Given the description of an element on the screen output the (x, y) to click on. 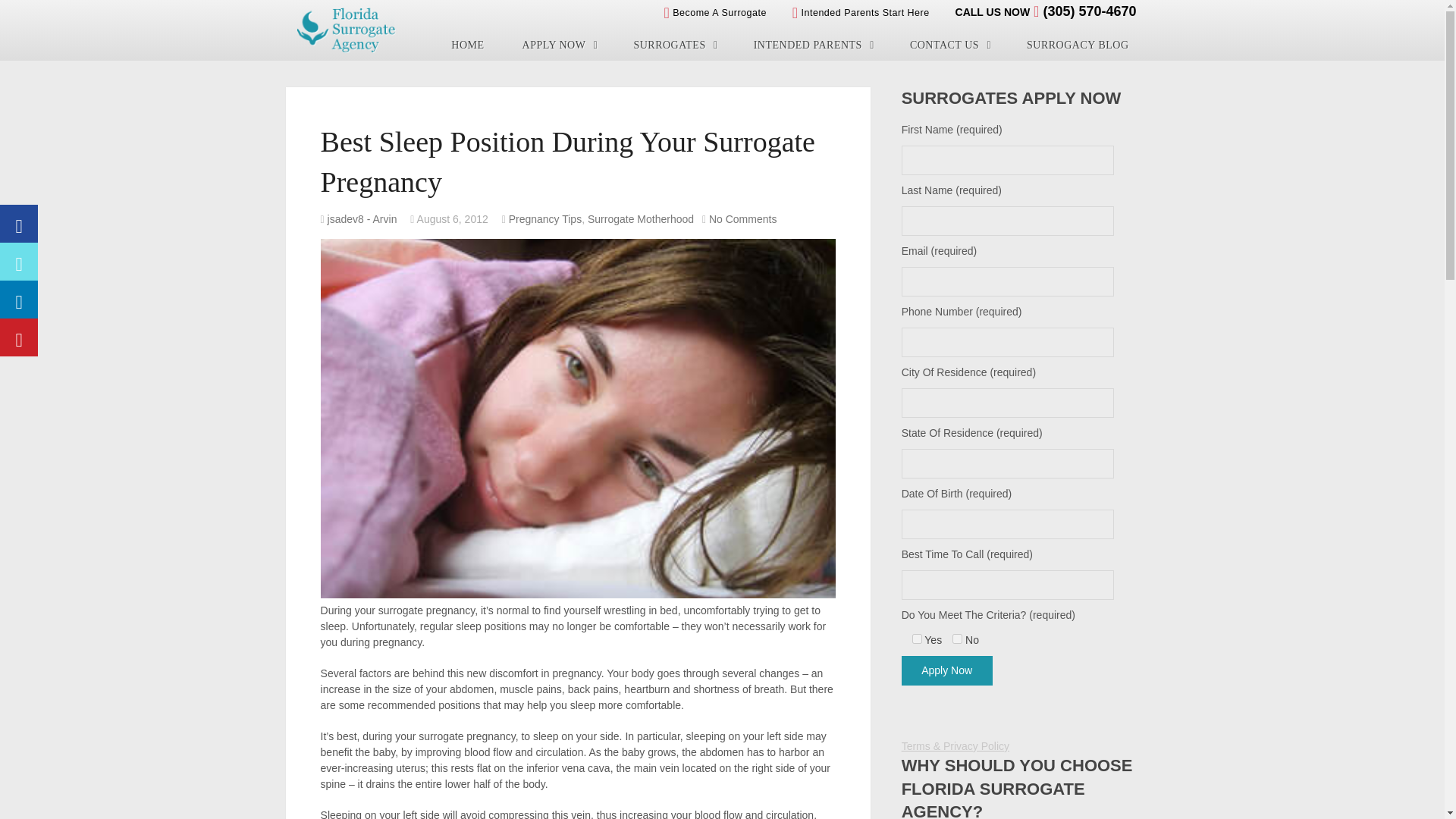
View all posts in Surrogate Motherhood (641, 218)
Become A Surrogate (714, 12)
Intended Parents Start Here (861, 12)
No (957, 638)
View all posts in Pregnancy Tips (545, 218)
Posts by jsadev8 - Arvin (362, 218)
Apply Now (946, 670)
Yes (916, 638)
Surrogates Apply Now! (558, 45)
